Given the description of an element on the screen output the (x, y) to click on. 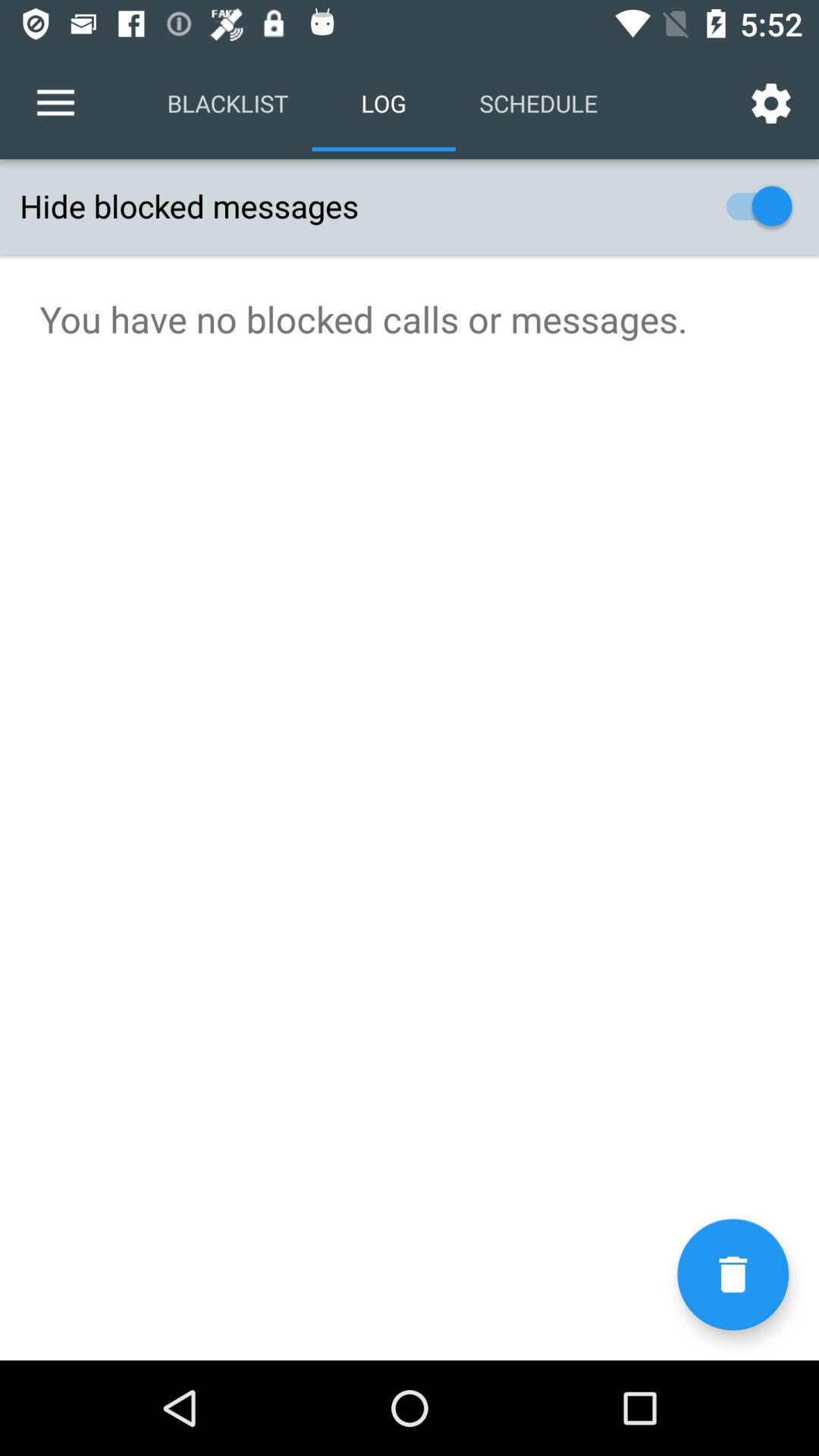
launch item next to the schedule item (771, 103)
